Given the description of an element on the screen output the (x, y) to click on. 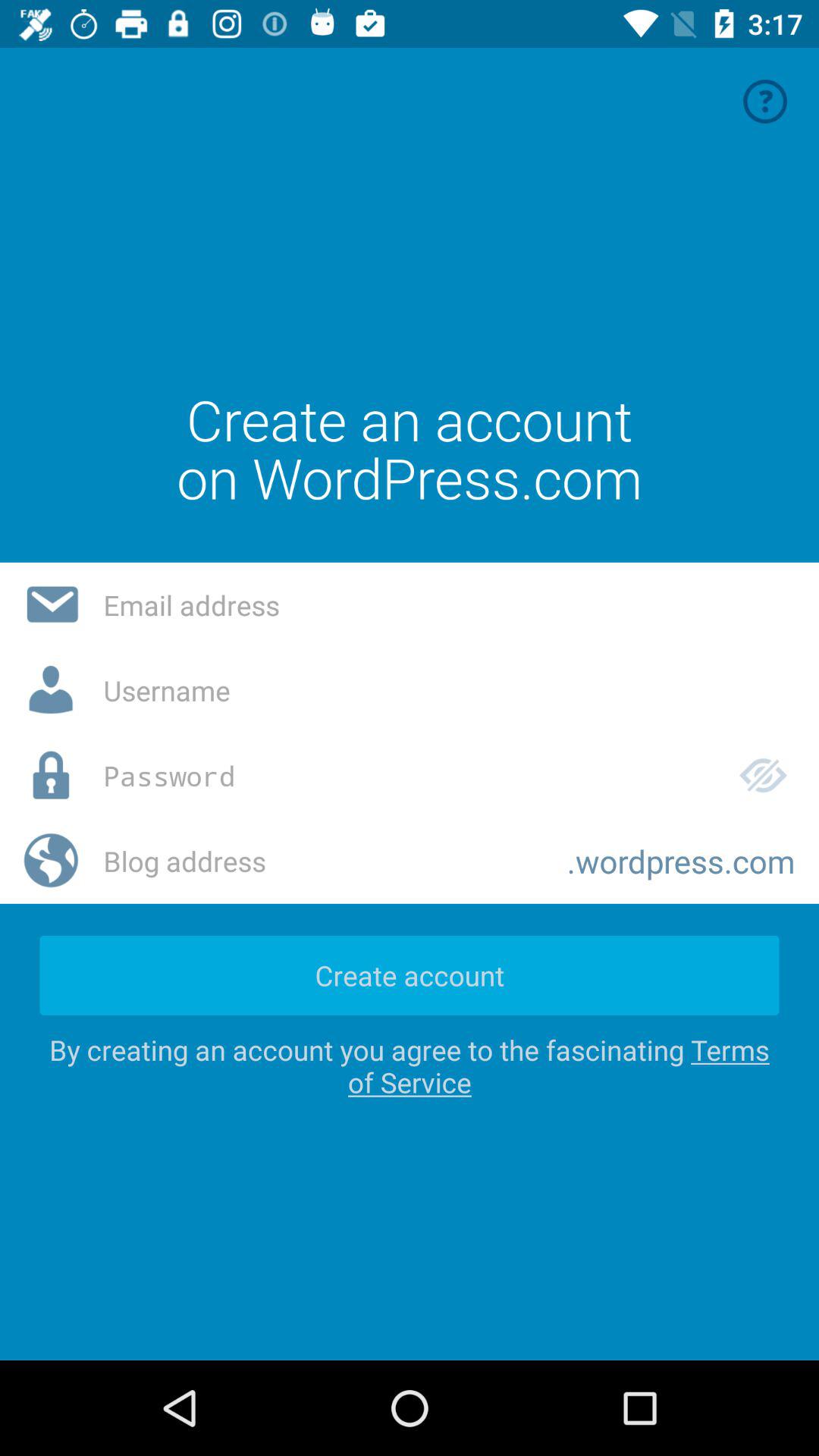
open text box for email address (449, 604)
